Given the description of an element on the screen output the (x, y) to click on. 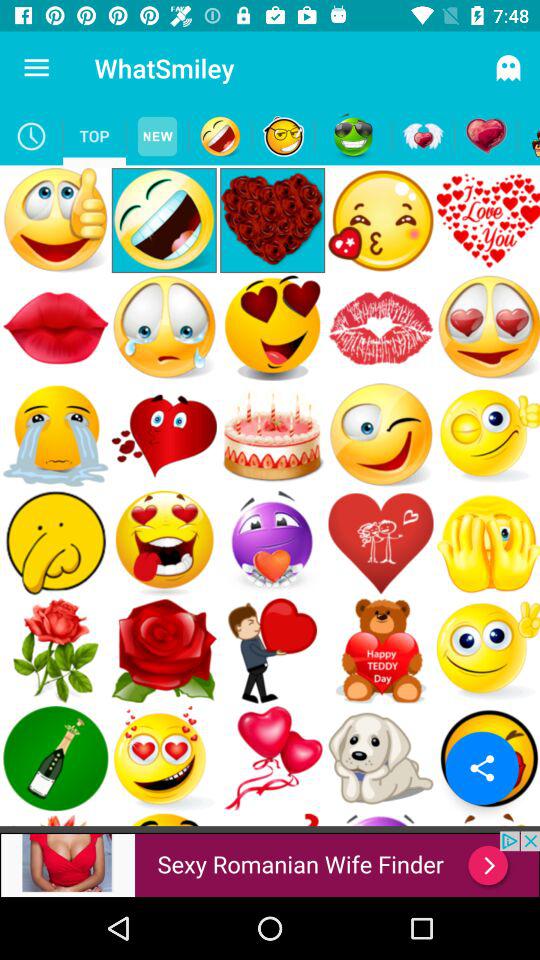
go to emoji section (353, 136)
